Given the description of an element on the screen output the (x, y) to click on. 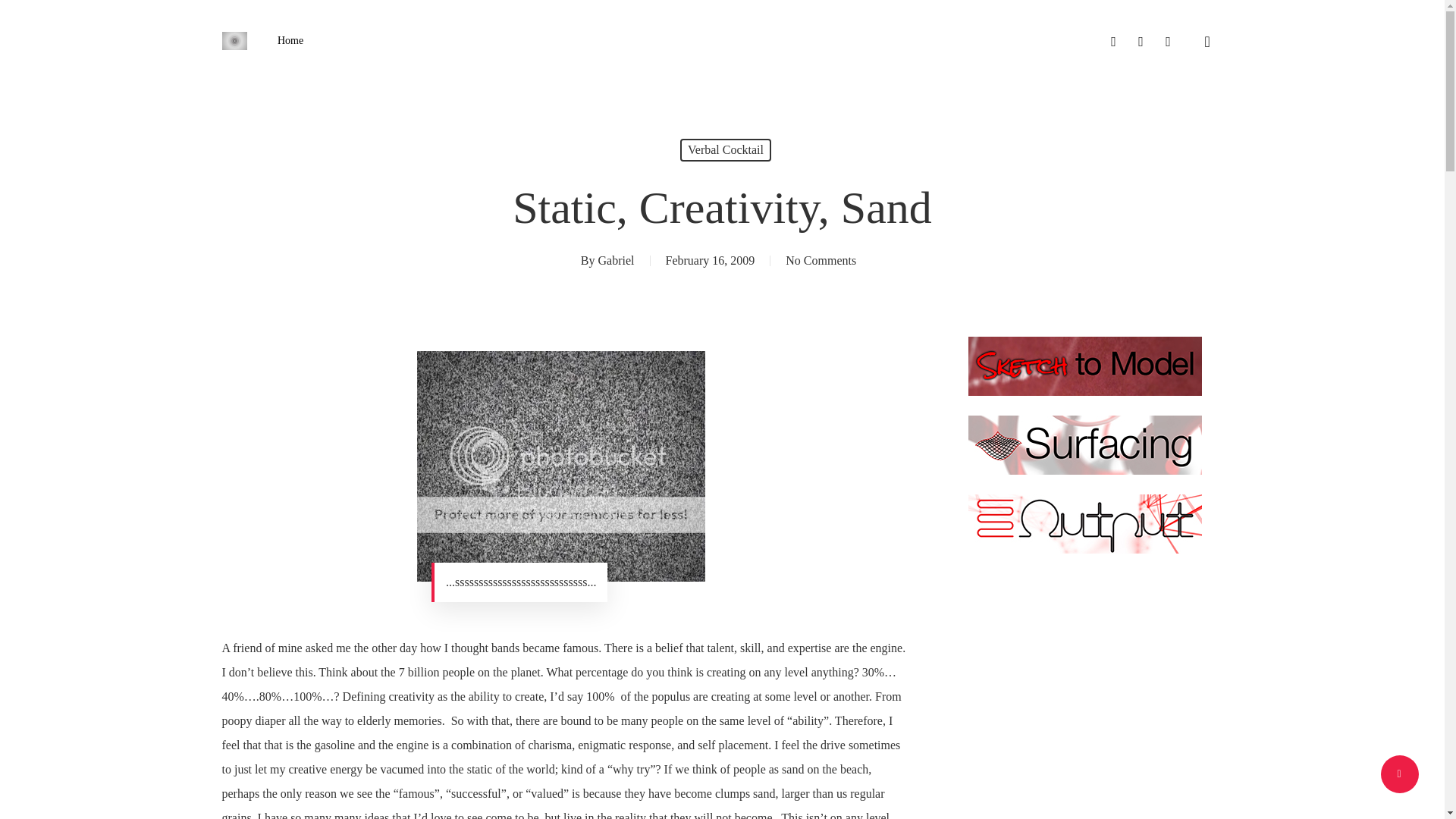
Home (290, 40)
Gabriel (616, 259)
Advertisement (1085, 720)
Static (560, 466)
Posts by Gabriel (616, 259)
Verbal Cocktail (725, 149)
No Comments (821, 259)
